Given the description of an element on the screen output the (x, y) to click on. 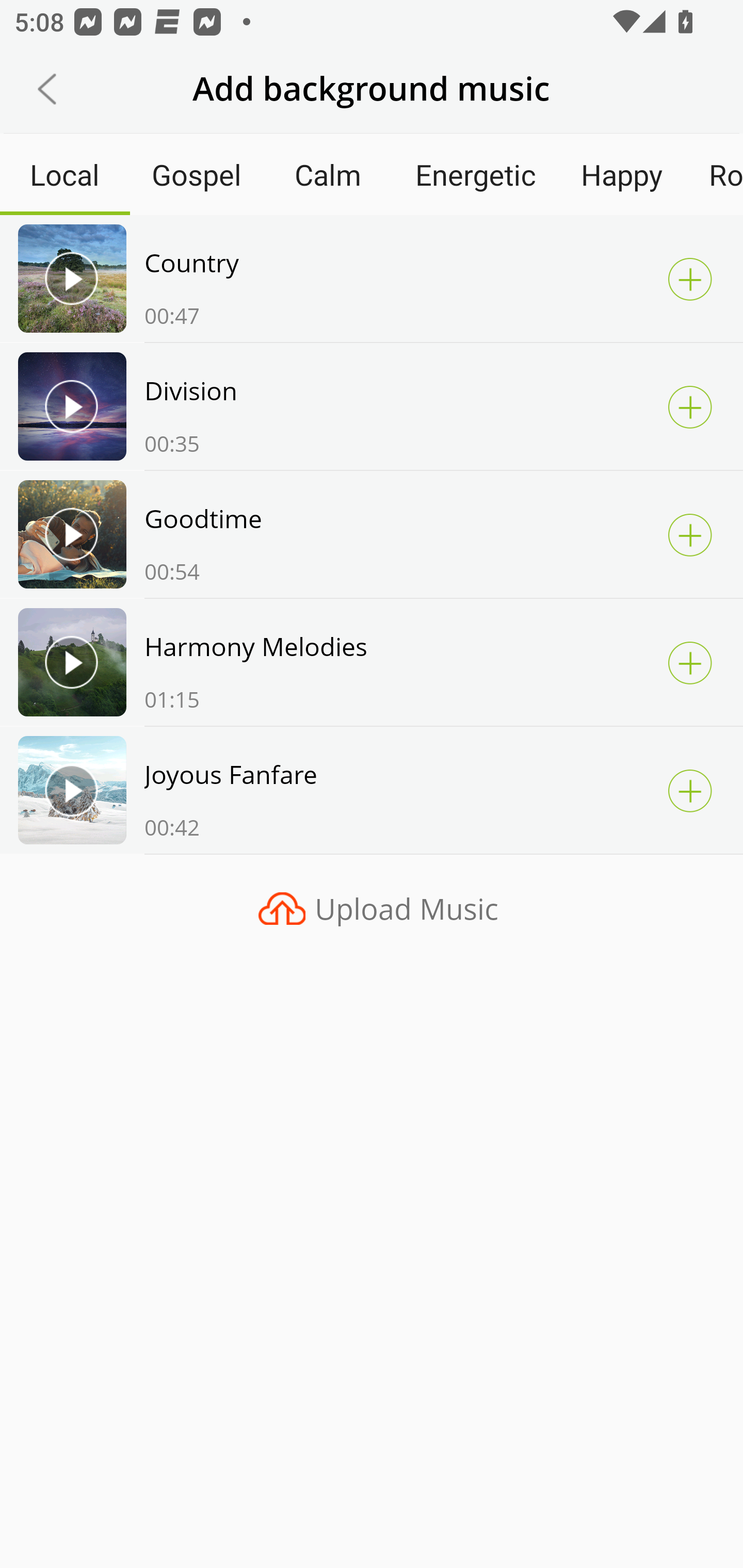
Back (46, 88)
Gospel (196, 173)
Calm (328, 173)
Energetic (475, 173)
Happy (622, 173)
Country 00:47 (371, 277)
Division 00:35 (371, 406)
Goodtime 00:54 (371, 533)
Harmony Melodies 01:15 (371, 661)
Joyous Fanfare 00:42 (371, 788)
Upload Music (371, 908)
